Given the description of an element on the screen output the (x, y) to click on. 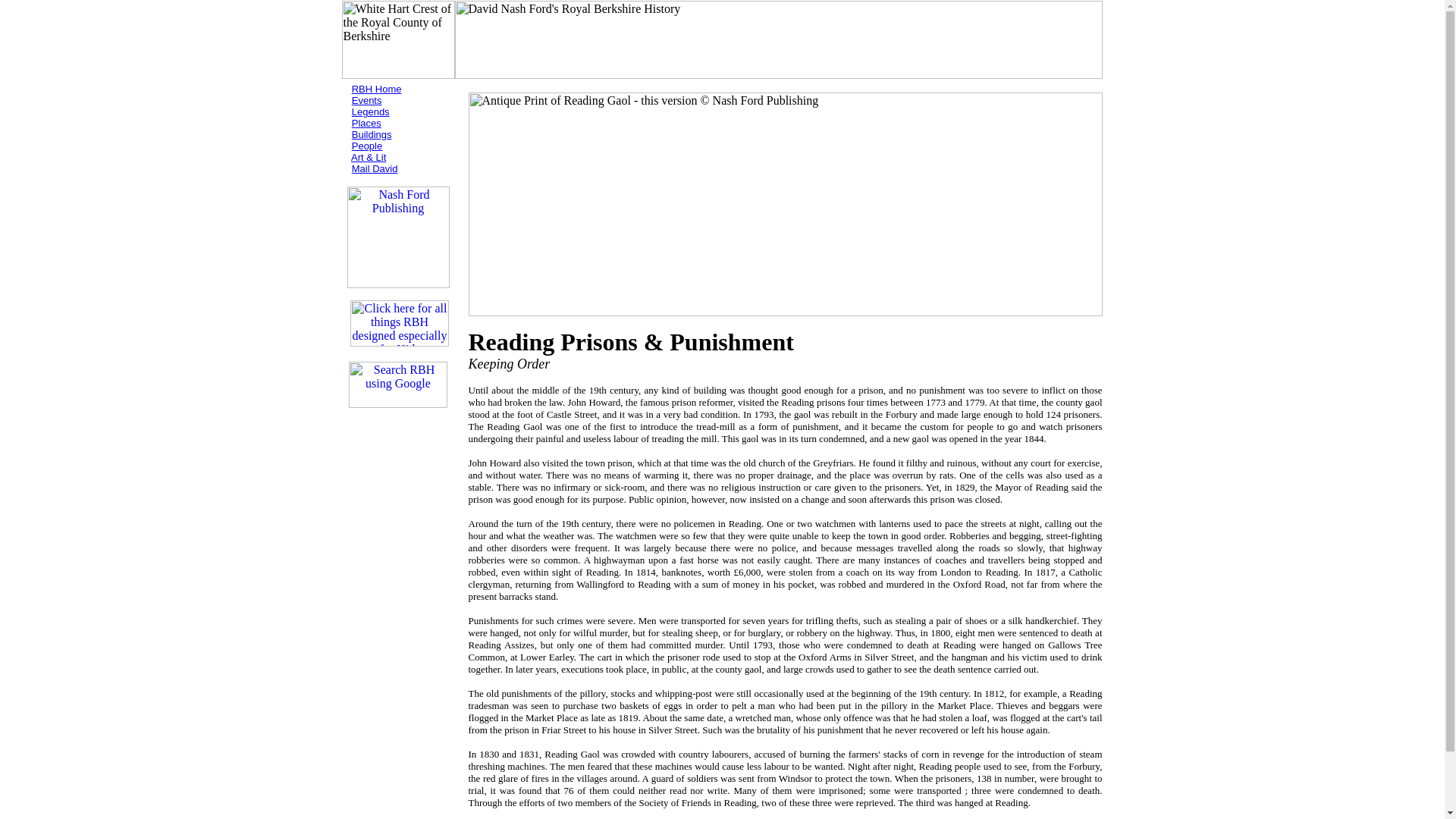
Mail David (374, 168)
Buildings (371, 134)
Events (366, 100)
People (366, 145)
Places (366, 122)
David Nash Ford's Royal Berkshire History (778, 39)
RBH Home (376, 89)
Legends (371, 111)
